Given the description of an element on the screen output the (x, y) to click on. 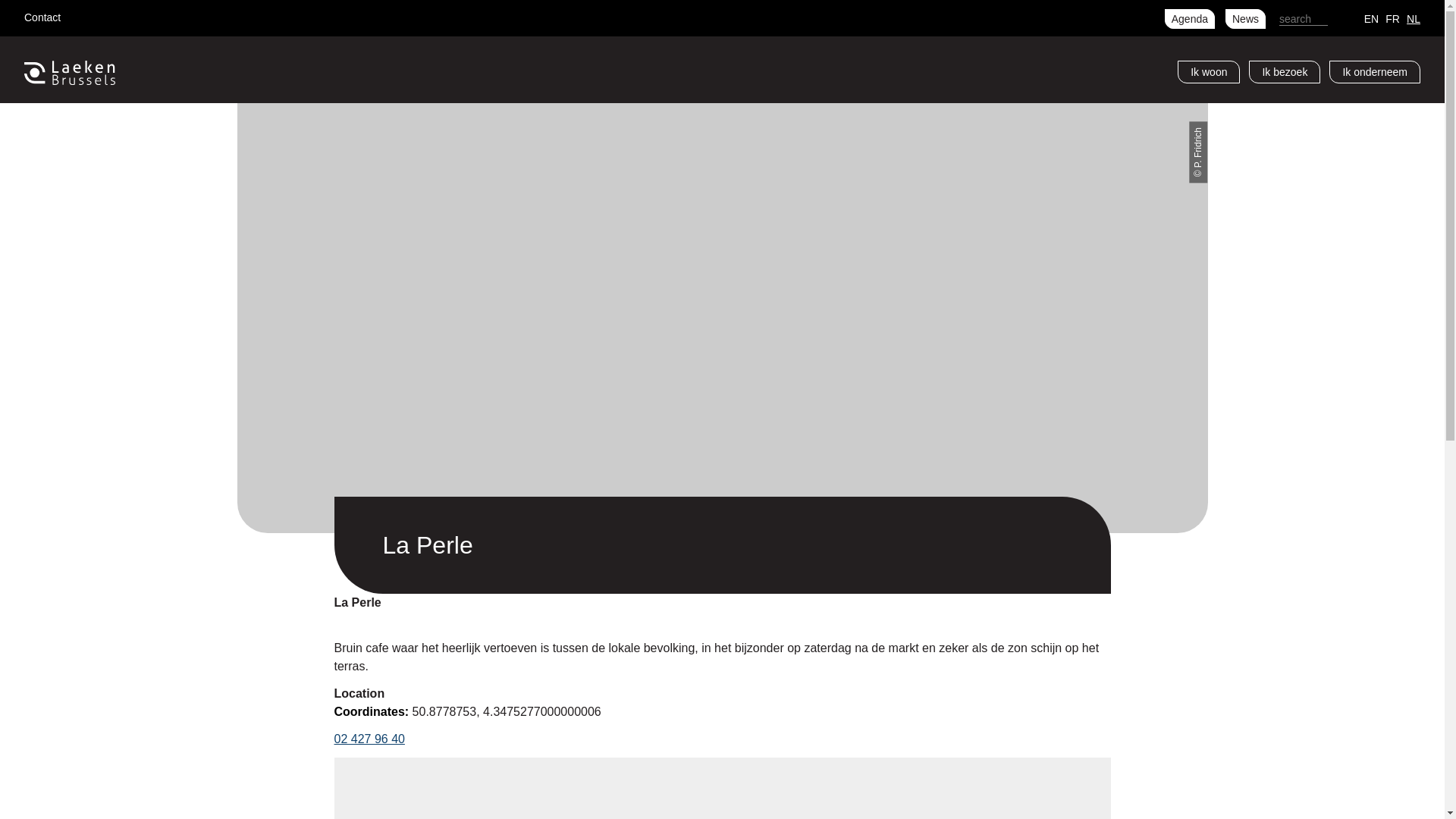
Instagram Element type: text (131, 15)
Agenda Element type: text (1189, 18)
Facebook Element type: text (83, 15)
Contact Element type: text (42, 17)
EN Element type: text (1371, 18)
NL Element type: text (1413, 18)
Search Element type: text (1340, 18)
Ik onderneem Element type: text (1374, 71)
RSS Element type: text (180, 15)
FR Element type: text (1392, 18)
Ik woon Element type: text (1208, 71)
News Element type: text (1245, 18)
Twitter Element type: text (107, 15)
02 427 96 40 Element type: text (368, 738)
LinkedIn Element type: text (156, 15)
Ik bezoek Element type: text (1284, 71)
